Given the description of an element on the screen output the (x, y) to click on. 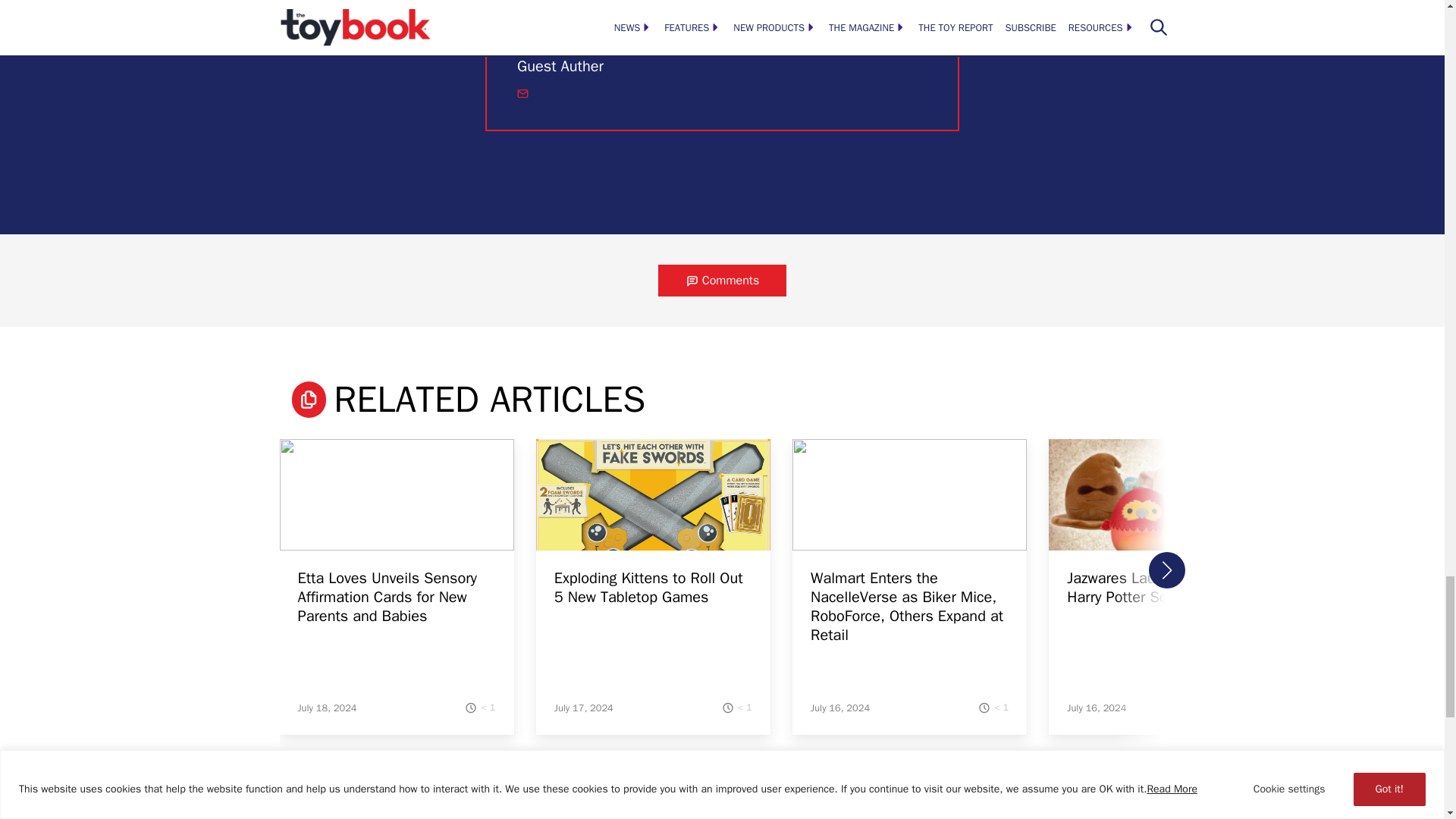
Send Email (522, 93)
Go to  (396, 503)
